Given the description of an element on the screen output the (x, y) to click on. 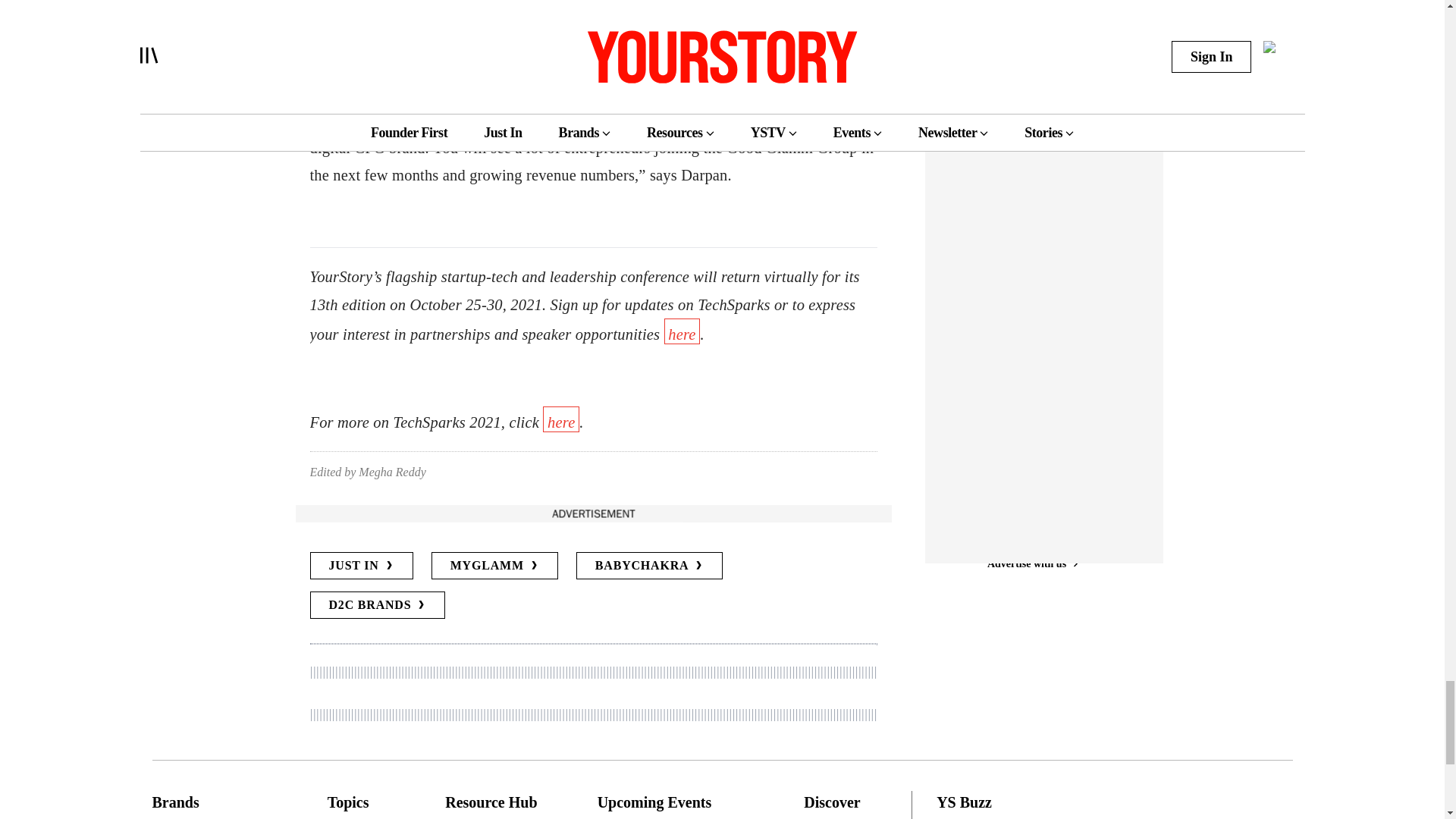
here (561, 419)
Advertise with us (592, 513)
MYGLAMM (493, 565)
D2C BRANDS (376, 605)
BABYCHAKRA (649, 565)
JUST IN (360, 565)
here (681, 330)
